Given the description of an element on the screen output the (x, y) to click on. 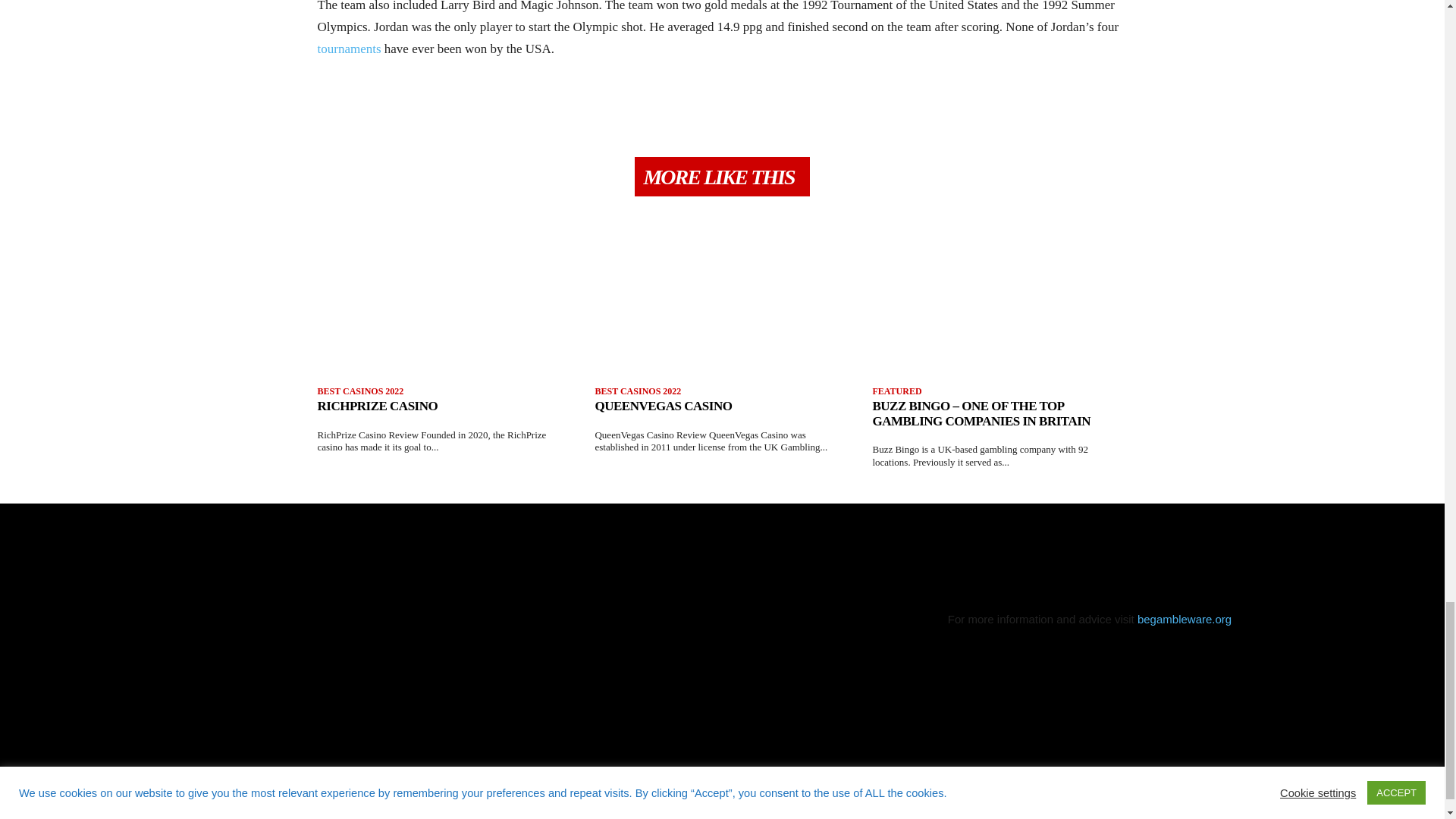
RichPrize Casino (444, 315)
RichPrize Casino (377, 405)
QueenVegas Casino (721, 315)
QueenVegas Casino (663, 405)
